Given the description of an element on the screen output the (x, y) to click on. 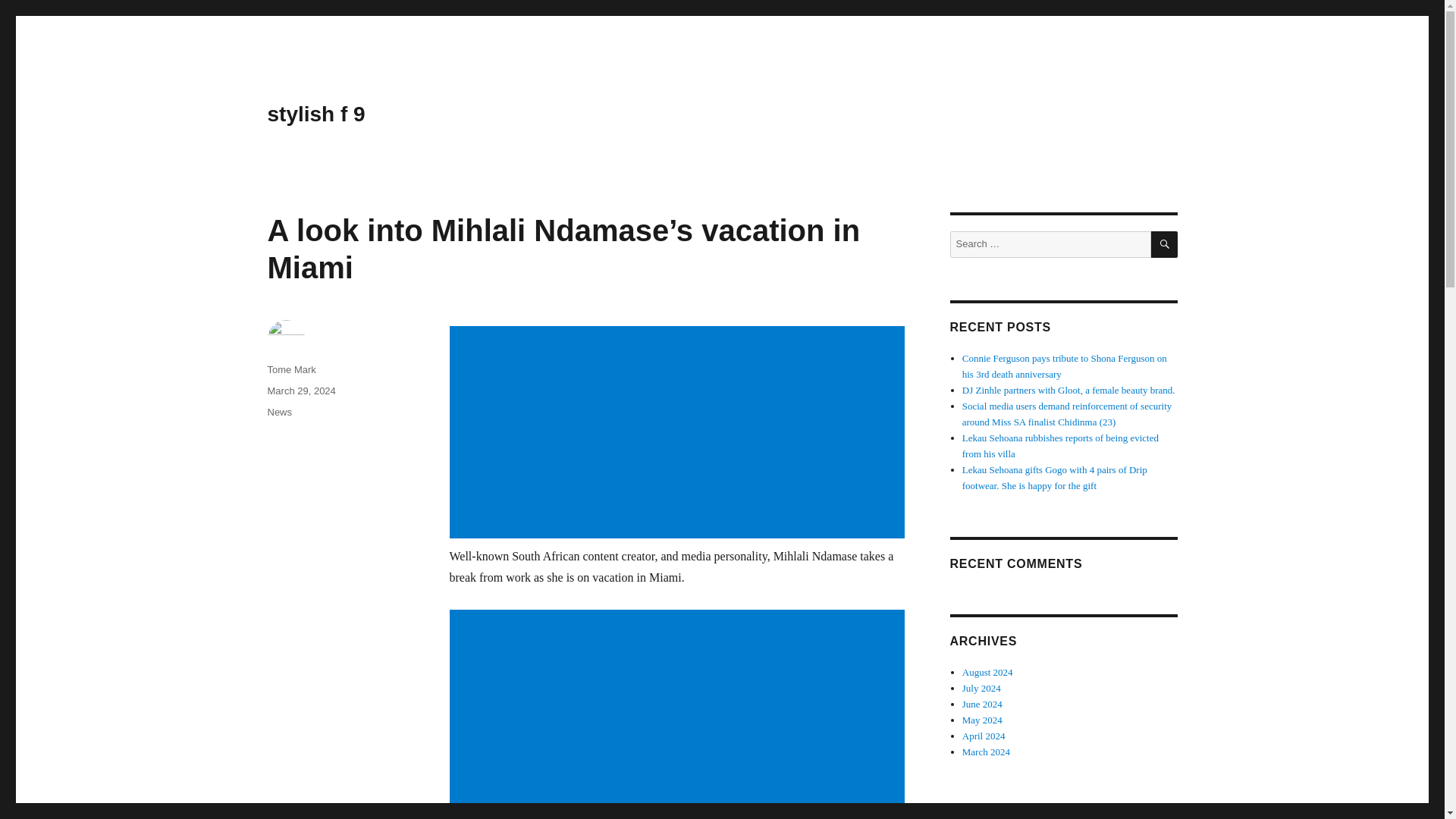
March 29, 2024 (300, 390)
DJ Zinhle partners with Gloot, a female beauty brand. (1068, 389)
July 2024 (981, 687)
April 2024 (984, 736)
June 2024 (982, 704)
May 2024 (982, 719)
News (279, 411)
stylish f 9 (315, 114)
March 2024 (986, 751)
August 2024 (987, 672)
Tome Mark (290, 369)
SEARCH (1164, 243)
